Given the description of an element on the screen output the (x, y) to click on. 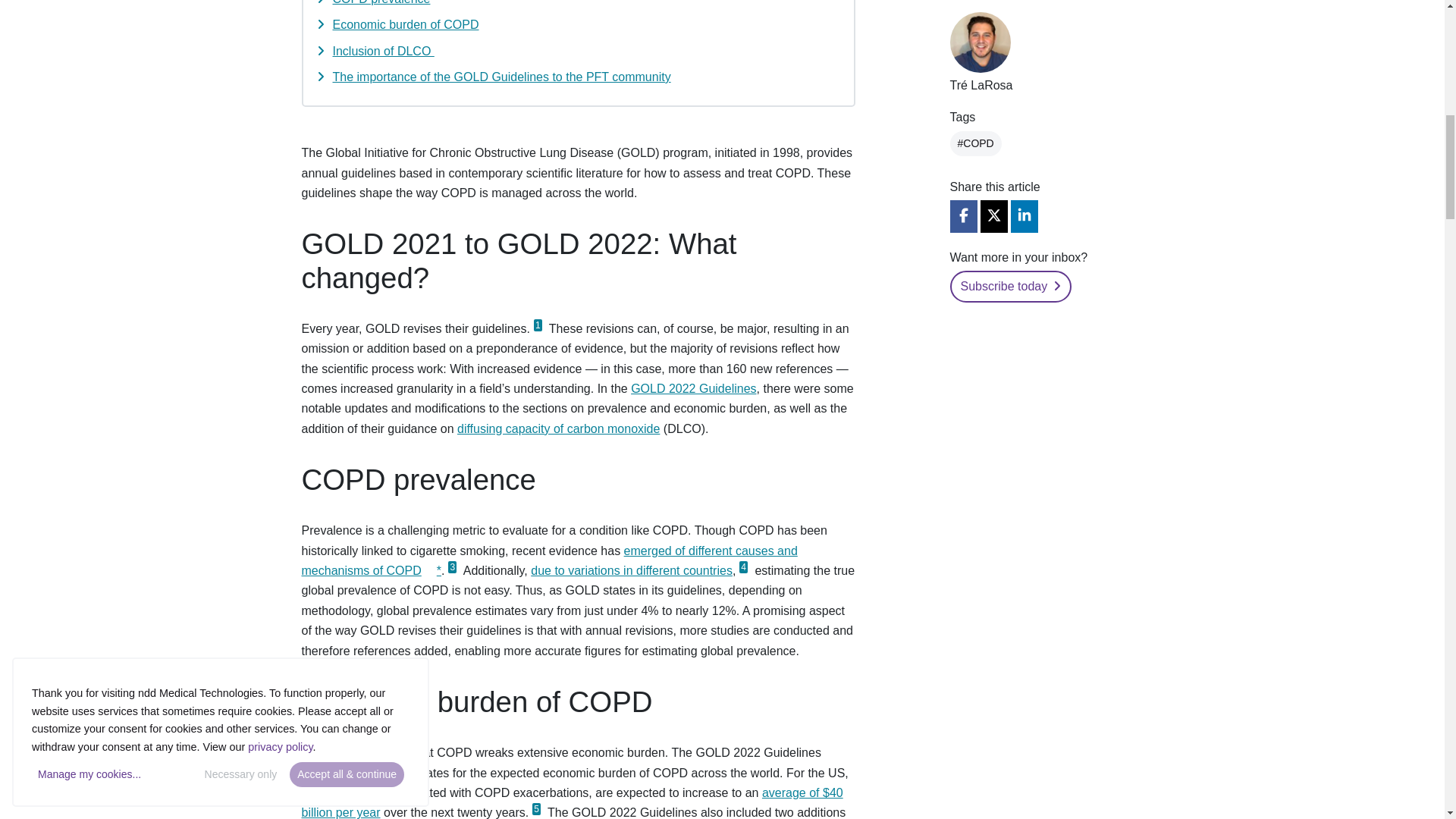
The importance of the GOLD Guidelines to the PFT community (500, 76)
Economic burden of COPD (405, 24)
COPD prevalence (380, 2)
Inclusion of DLCO  (382, 51)
